Given the description of an element on the screen output the (x, y) to click on. 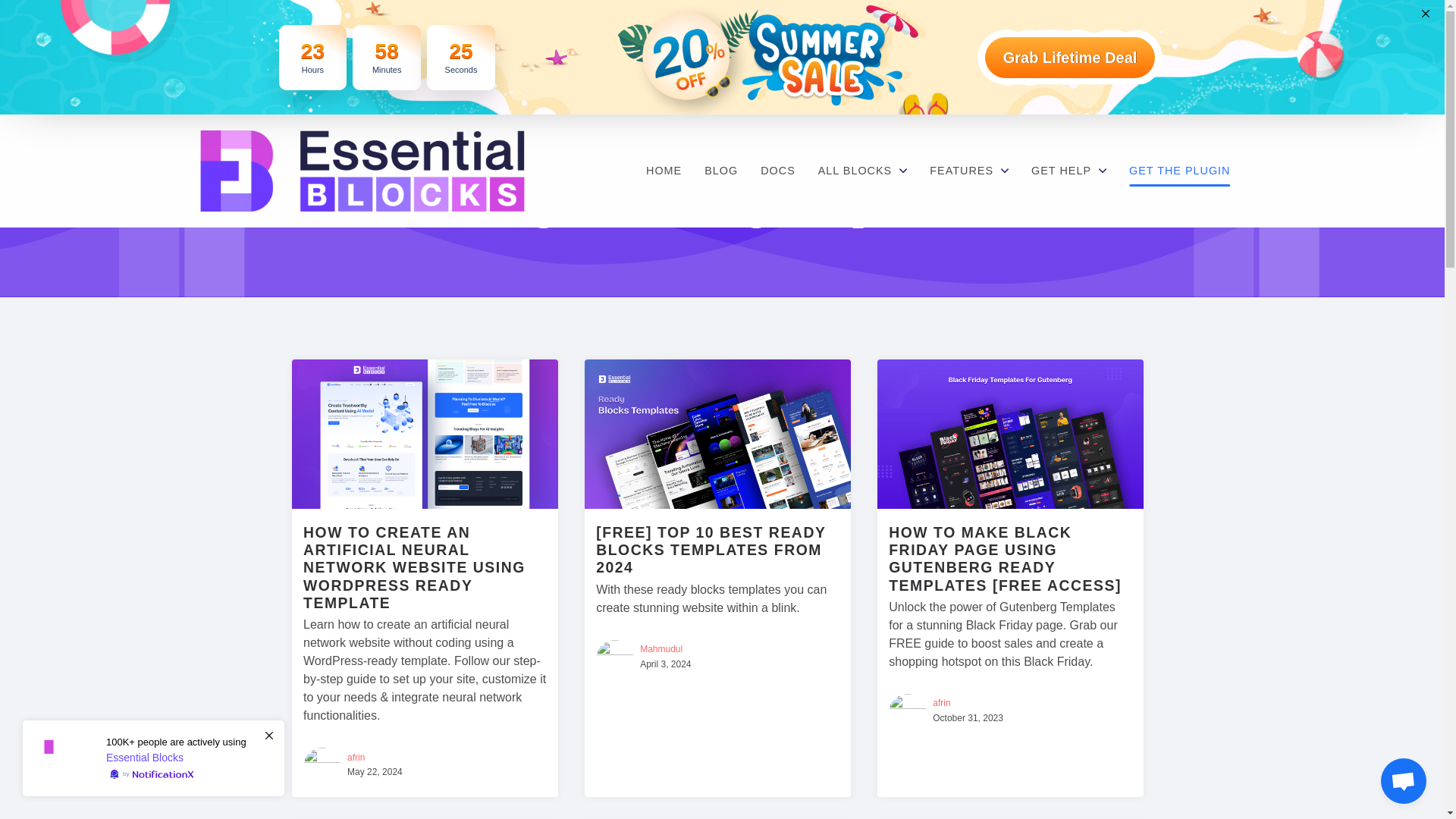
Grab Lifetime Deal (1070, 56)
Posts by afrin (356, 757)
ALL BLOCKS (862, 171)
Posts by afrin (941, 702)
Posts by Mahmudul (661, 648)
HOME (663, 171)
DOCS (777, 171)
BLOG (721, 171)
